Given the description of an element on the screen output the (x, y) to click on. 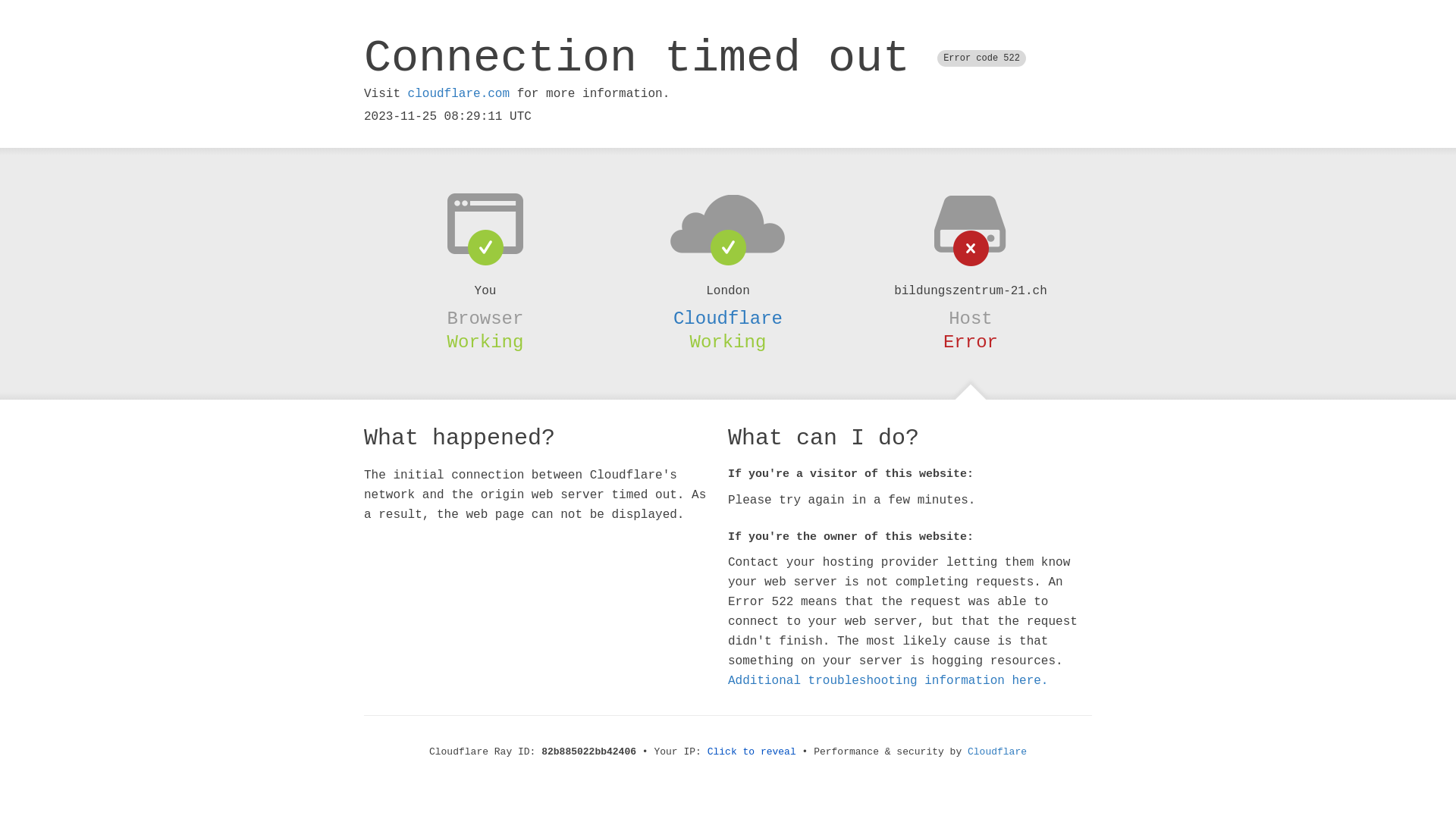
cloudflare.com Element type: text (458, 93)
Cloudflare Element type: text (996, 751)
Additional troubleshooting information here. Element type: text (888, 680)
Click to reveal Element type: text (751, 751)
Cloudflare Element type: text (727, 318)
